Given the description of an element on the screen output the (x, y) to click on. 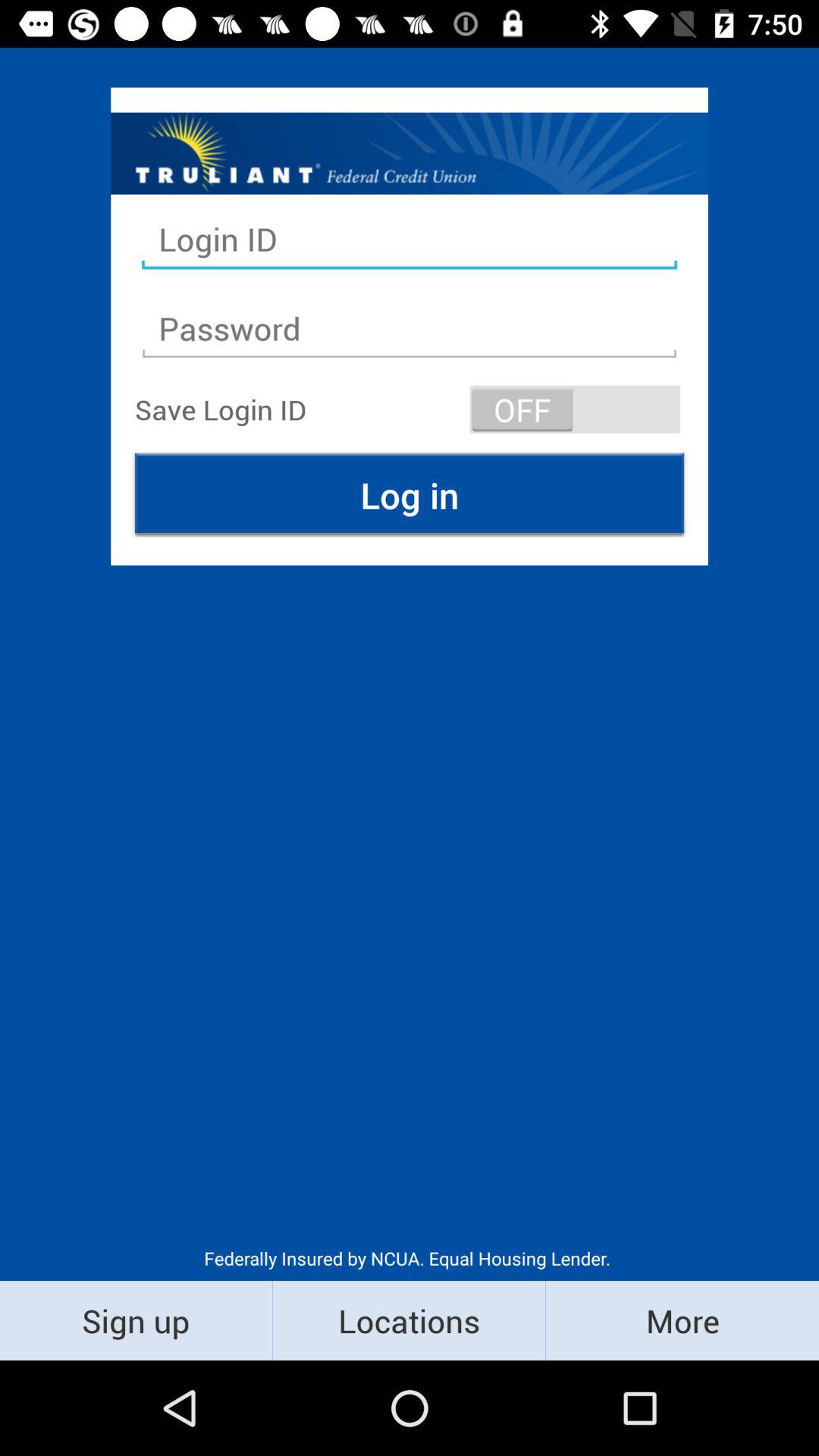
press the item to the right of locations (682, 1320)
